Given the description of an element on the screen output the (x, y) to click on. 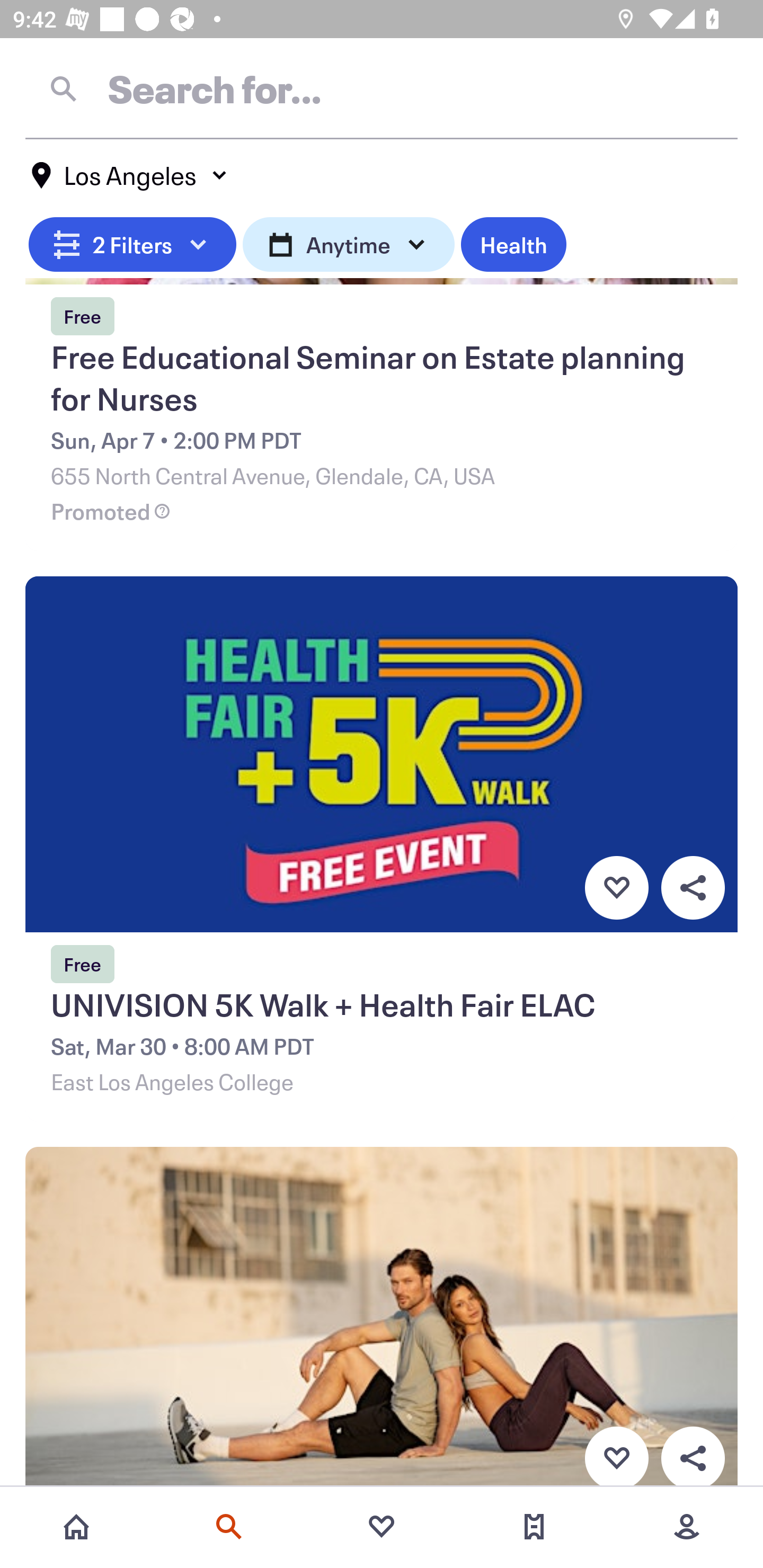
Search for… (381, 88)
Los Angeles (130, 175)
Favorite button (616, 887)
Overflow menu button (692, 887)
Event's image Favorite button Overflow menu button (381, 1318)
Favorite button (616, 1455)
Overflow menu button (692, 1455)
Home (76, 1526)
Search events (228, 1526)
Favorites (381, 1526)
Tickets (533, 1526)
More (686, 1526)
